Given the description of an element on the screen output the (x, y) to click on. 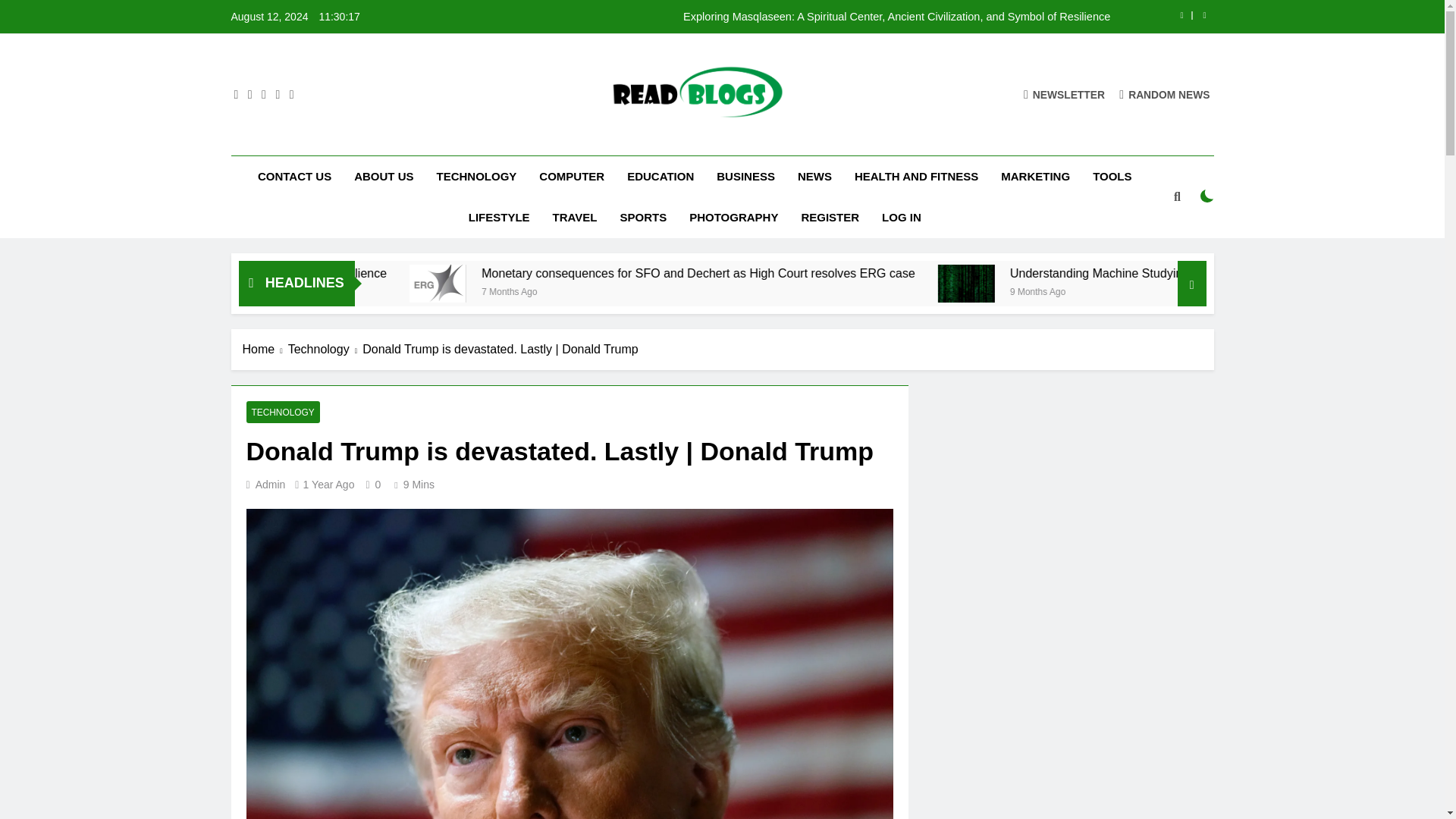
ABOUT US (383, 176)
NEWSLETTER (1064, 93)
SPORTS (643, 217)
REGISTER (829, 217)
CONTACT US (294, 176)
MARKETING (1035, 176)
